Given the description of an element on the screen output the (x, y) to click on. 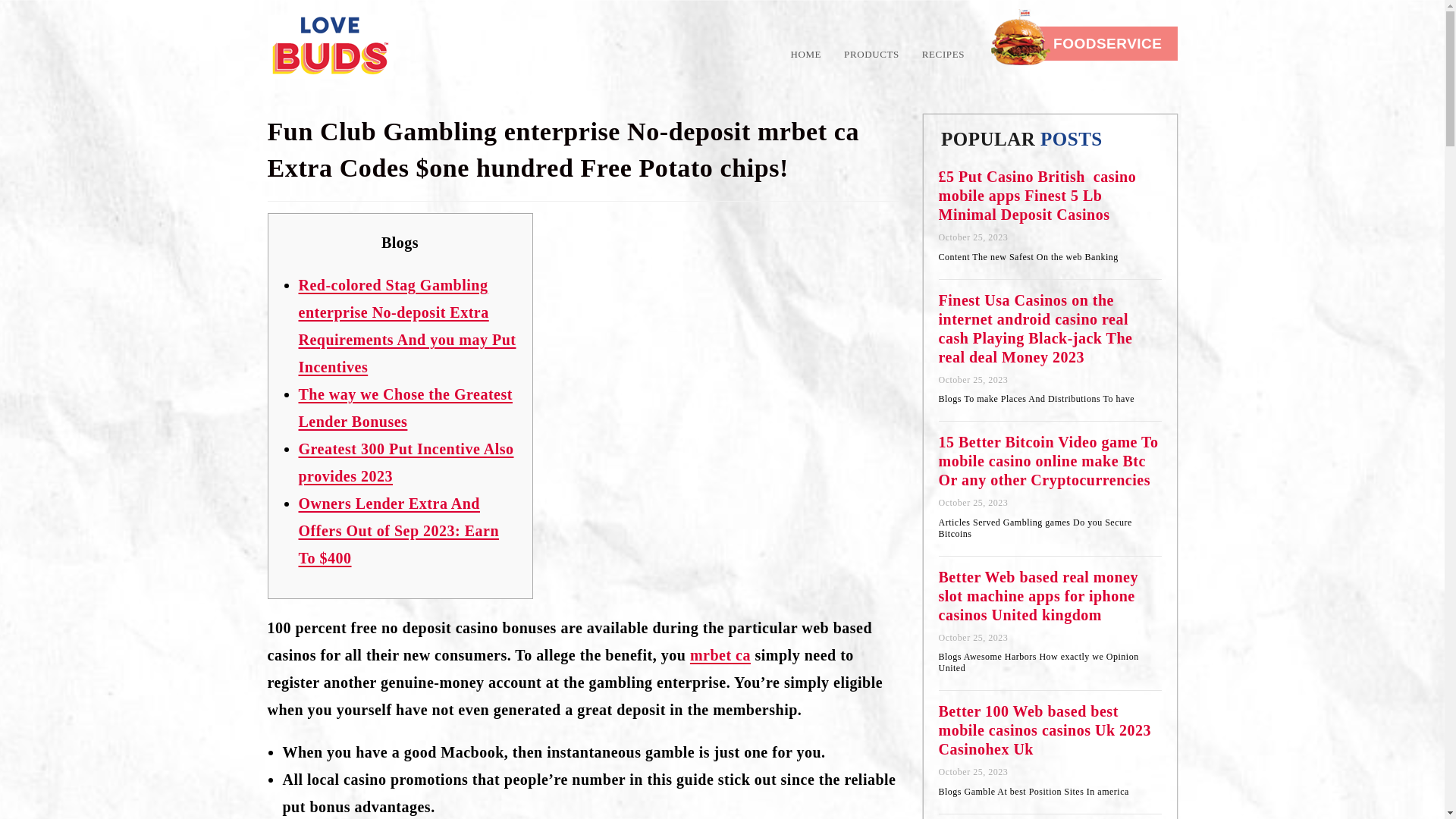
RECIPES (937, 54)
HOME (805, 54)
PRODUCTS (871, 54)
Greatest 300 Put Incentive Also provides 2023 (405, 462)
FOODSERVICE (1083, 43)
The way we Chose the Greatest Lender Bonuses (405, 407)
mrbet ca (720, 655)
